Given the description of an element on the screen output the (x, y) to click on. 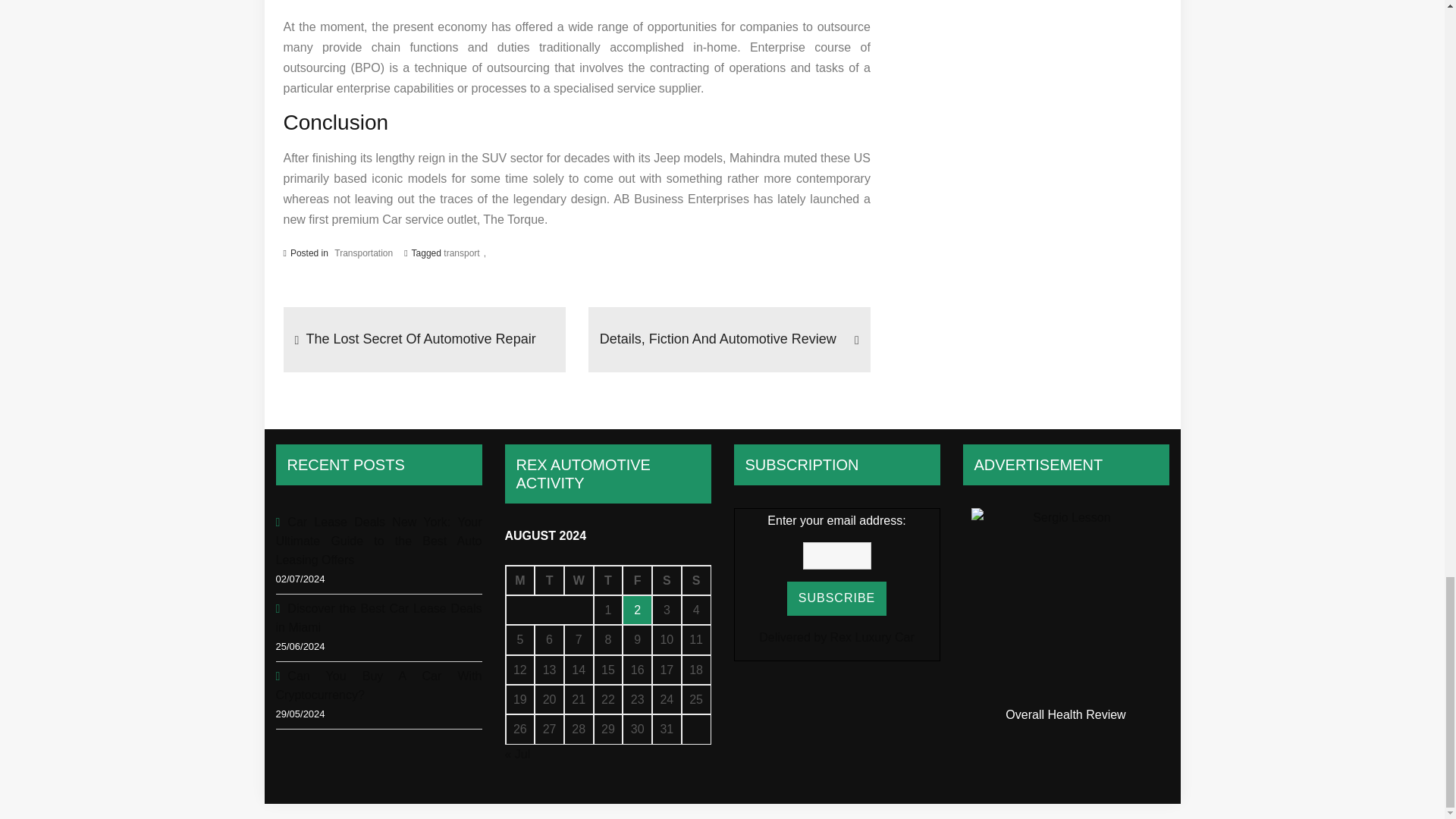
Saturday (666, 580)
Tuesday (549, 580)
Sunday (696, 580)
Friday (637, 580)
Transportation (363, 252)
Monday (519, 580)
Thursday (608, 580)
Subscribe (836, 598)
Sergio Lesson (1065, 602)
Wednesday (579, 580)
